Given the description of an element on the screen output the (x, y) to click on. 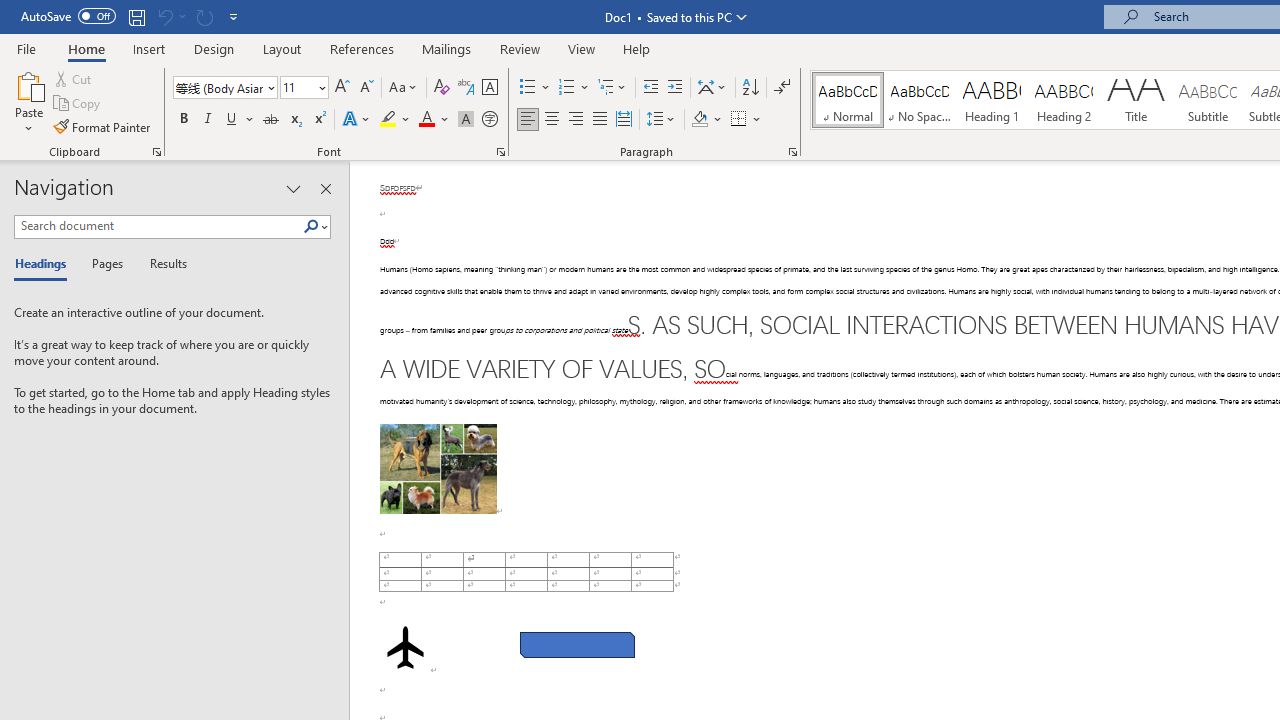
Airplane with solid fill (405, 647)
Heading 2 (1063, 100)
Can't Undo (164, 15)
